Given the description of an element on the screen output the (x, y) to click on. 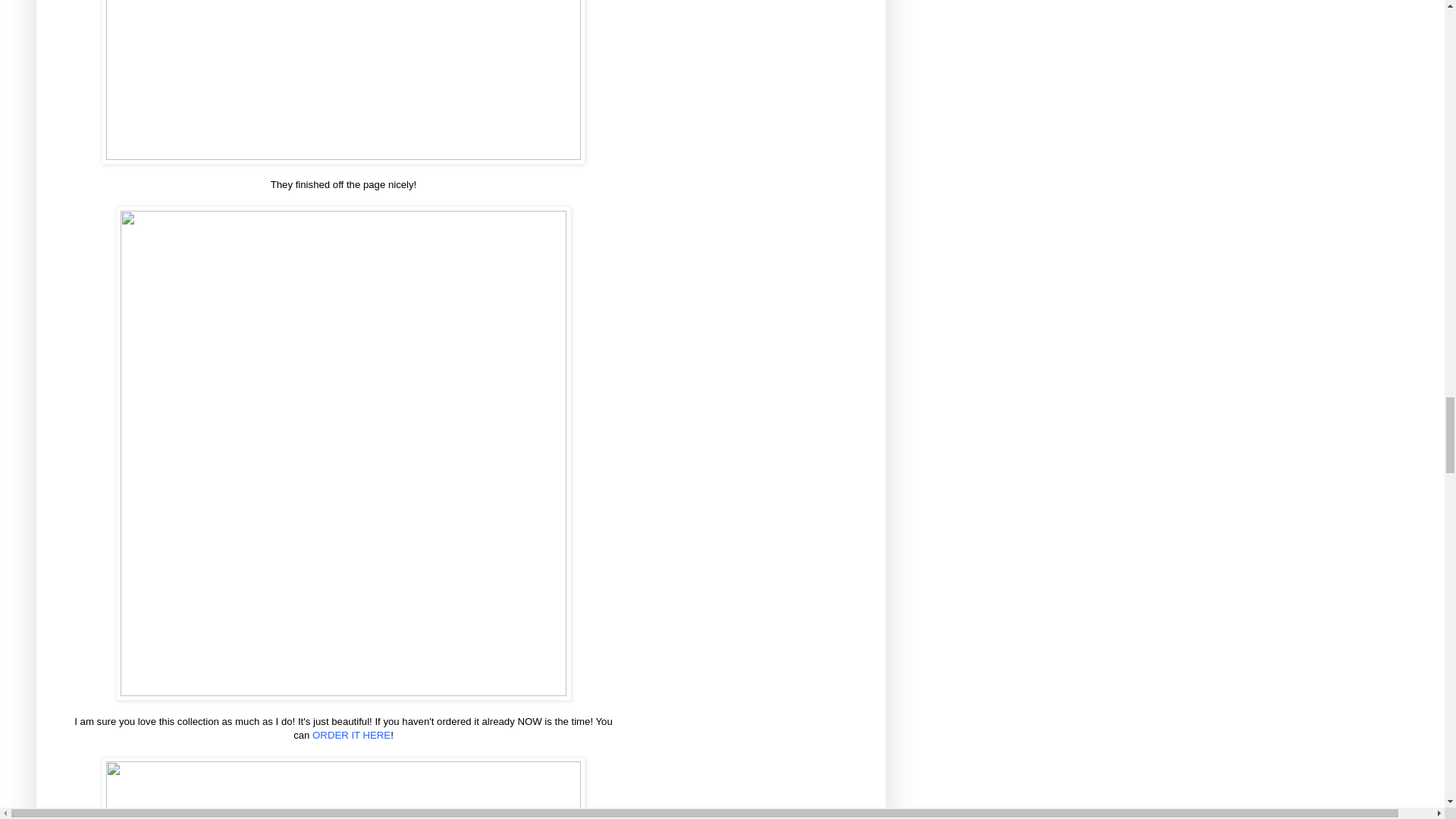
ORDER IT HERE (351, 735)
